Given the description of an element on the screen output the (x, y) to click on. 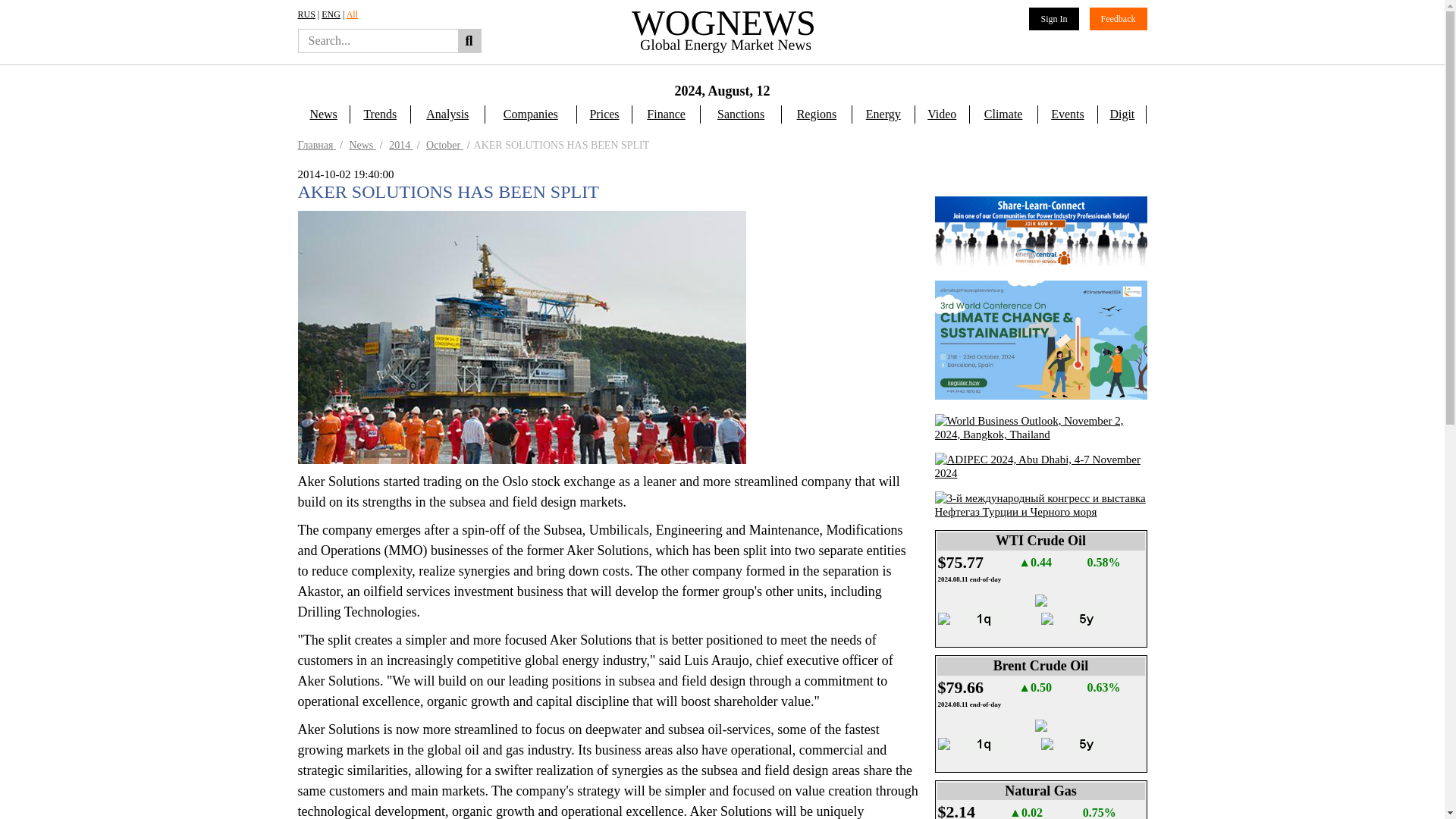
Regions (816, 114)
Find (469, 40)
ADIPEC 2024, Abu Dhabi, 4-7 November 2024 (1040, 491)
Analysis (447, 114)
RUS (305, 14)
All (352, 14)
Sign In (1053, 18)
World Business Outlook, November 2, 2024, Bangkok, Thailand (1040, 447)
ENERGY-CENTRAL-1 (1040, 231)
News (323, 114)
